Given the description of an element on the screen output the (x, y) to click on. 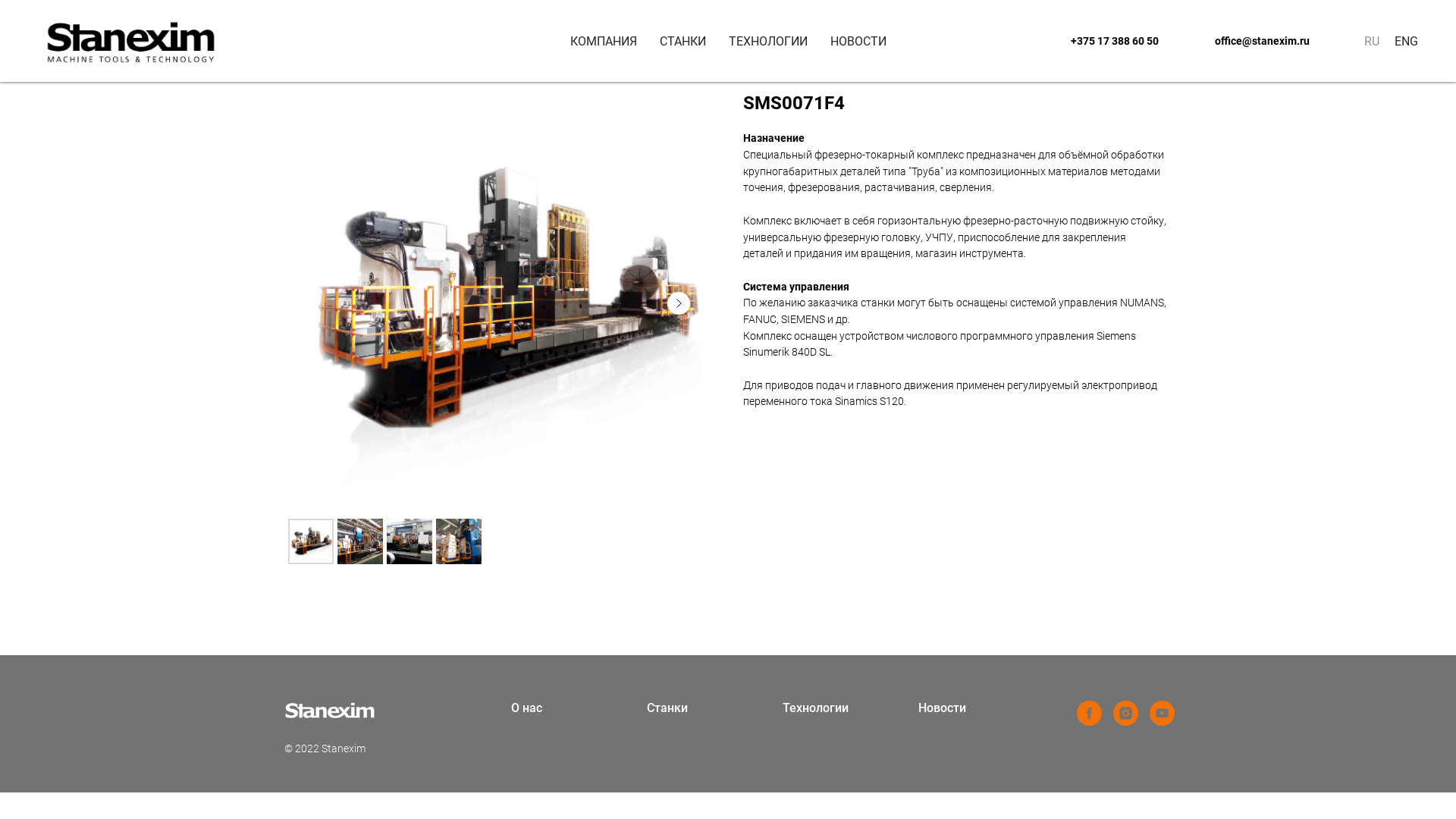
ENG Element type: text (1406, 40)
RU Element type: text (1371, 40)
+375 17 388 60 50 Element type: text (1114, 40)
office@stanexim.ru Element type: text (1261, 40)
